Given the description of an element on the screen output the (x, y) to click on. 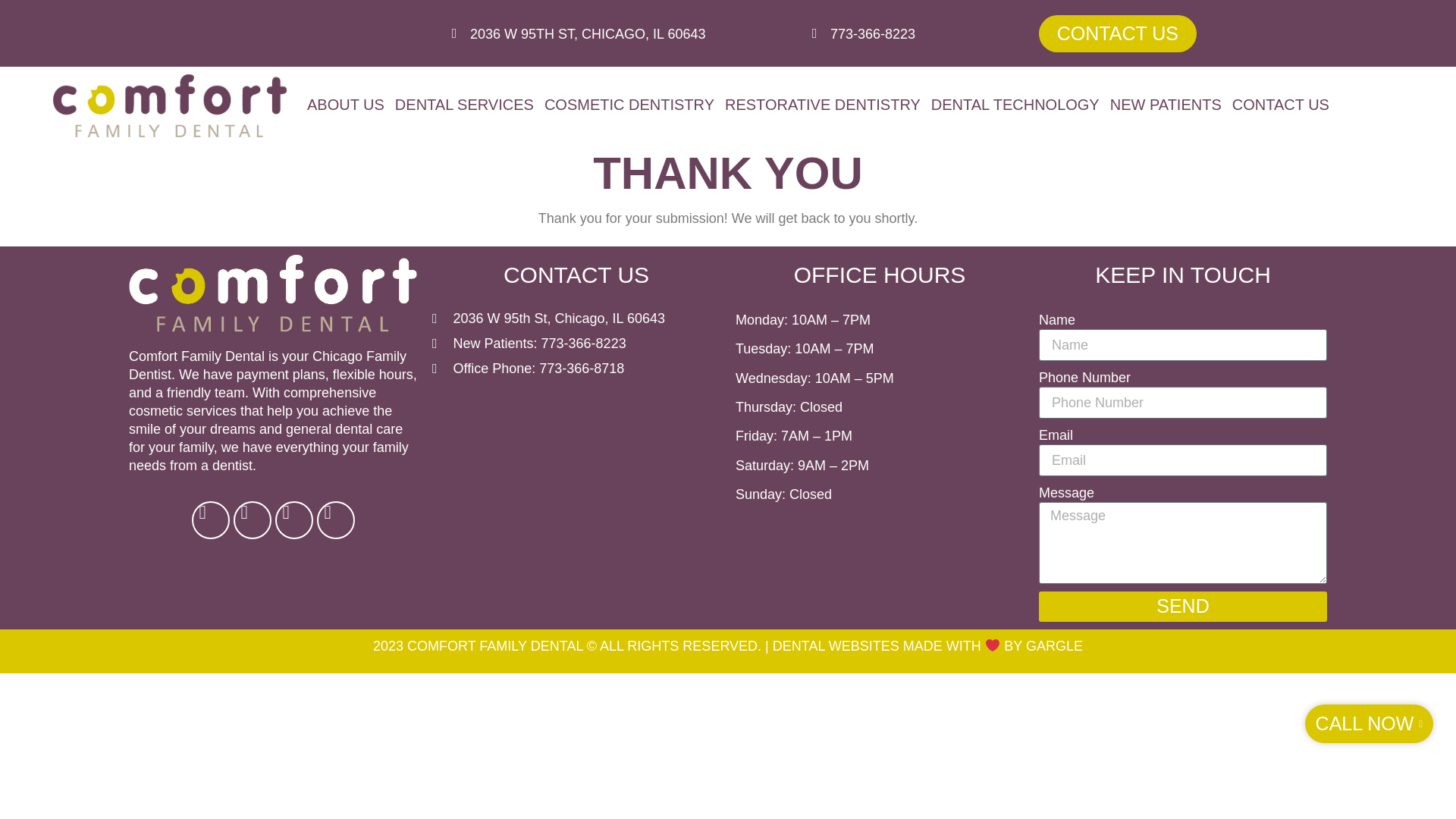
DENTAL TECHNOLOGY (1015, 104)
COSMETIC DENTISTRY (628, 104)
RESTORATIVE DENTISTRY (822, 104)
ABOUT US (345, 104)
CONTACT US (1117, 33)
773-366-8223 (872, 33)
CONTACT US (1281, 104)
NEW PATIENTS (1166, 104)
comfort family dental chicago (576, 461)
2036 W 95TH ST, CHICAGO, IL 60643 (587, 33)
